Given the description of an element on the screen output the (x, y) to click on. 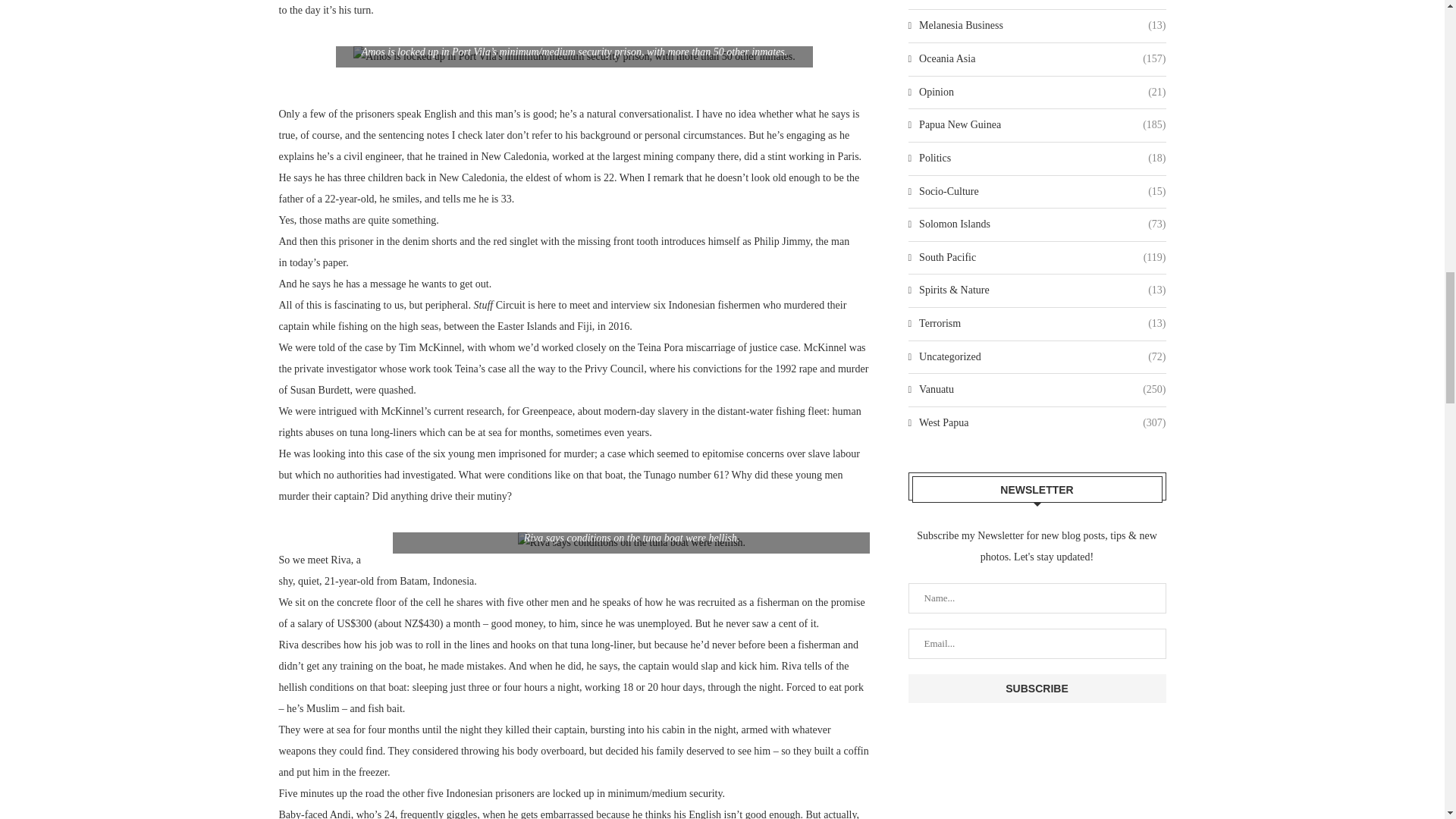
Subscribe (1037, 688)
